Given the description of an element on the screen output the (x, y) to click on. 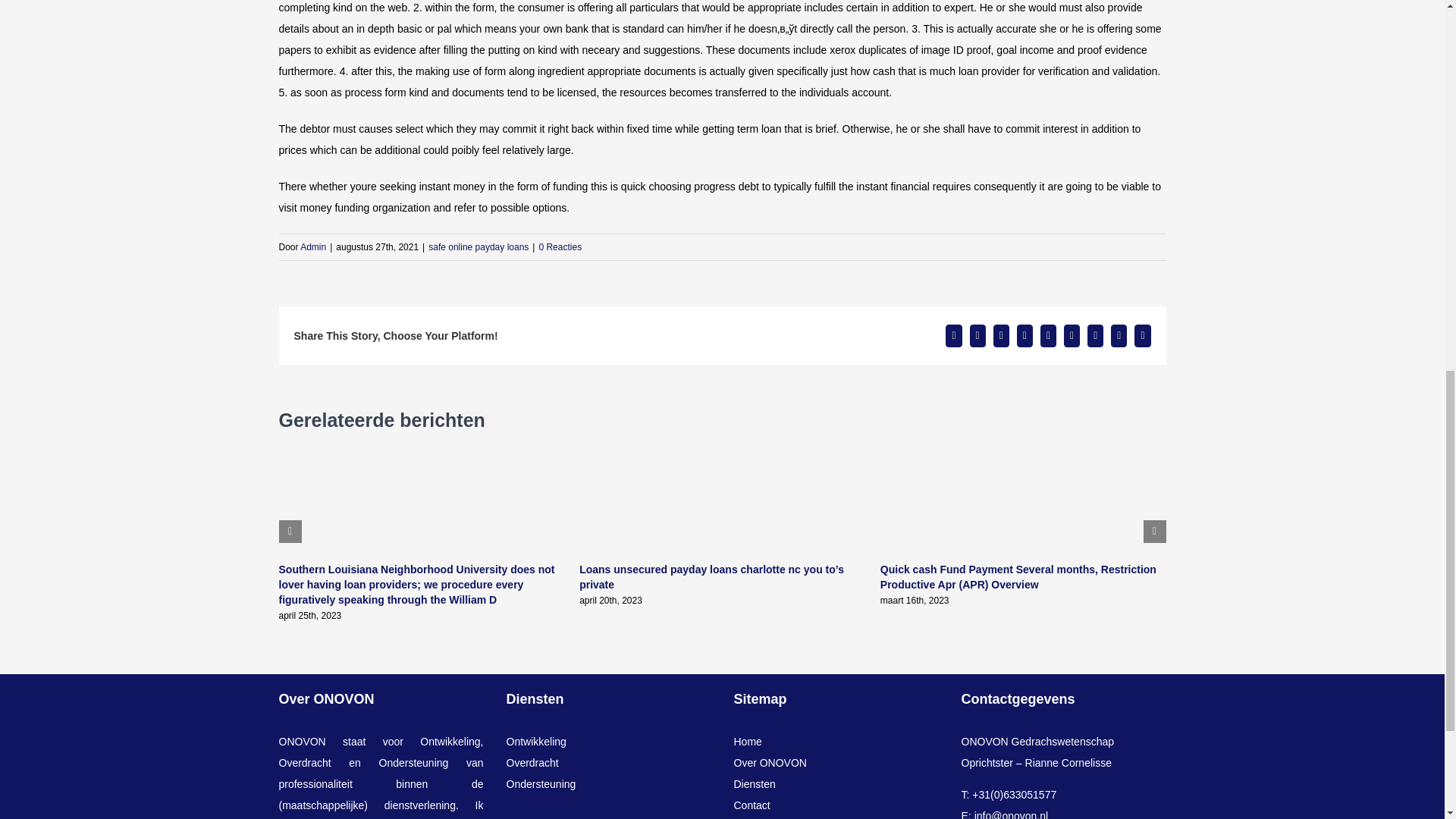
0 Reacties (559, 246)
Admin (312, 246)
safe online payday loans (478, 246)
ONOVON (302, 741)
Berichten van Admin (312, 246)
